Given the description of an element on the screen output the (x, y) to click on. 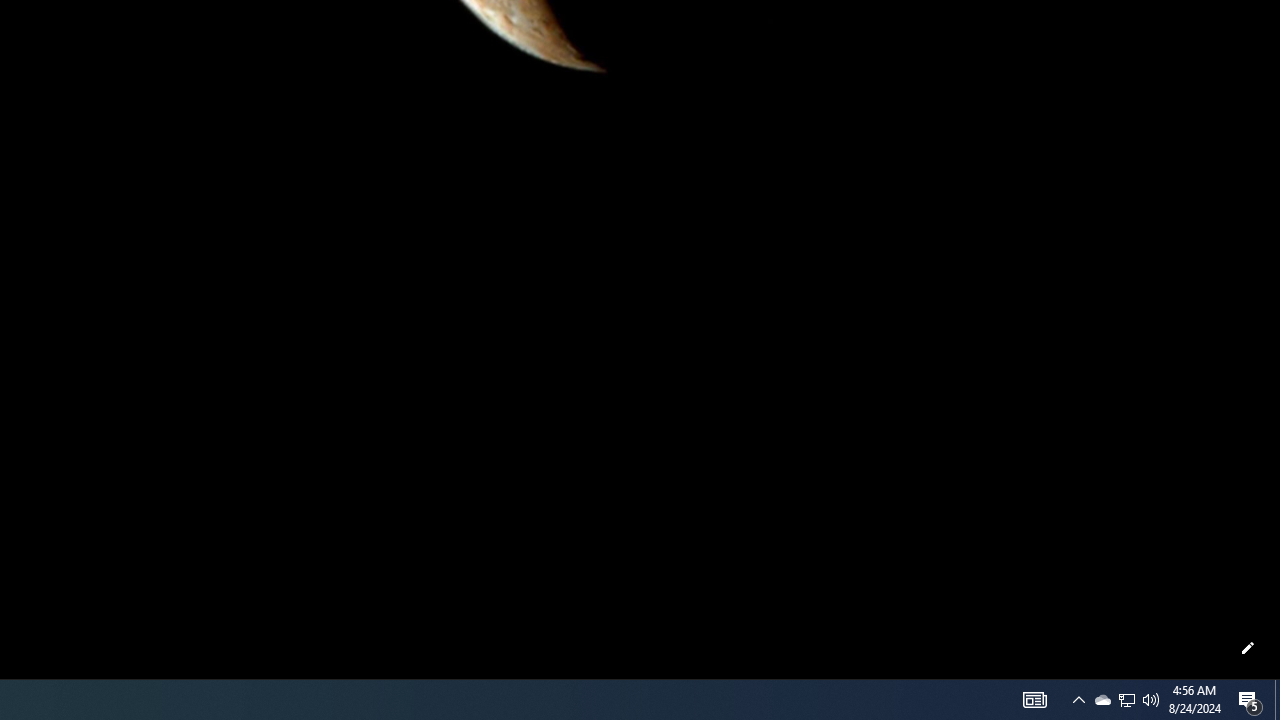
Customize this page (1247, 647)
